Given the description of an element on the screen output the (x, y) to click on. 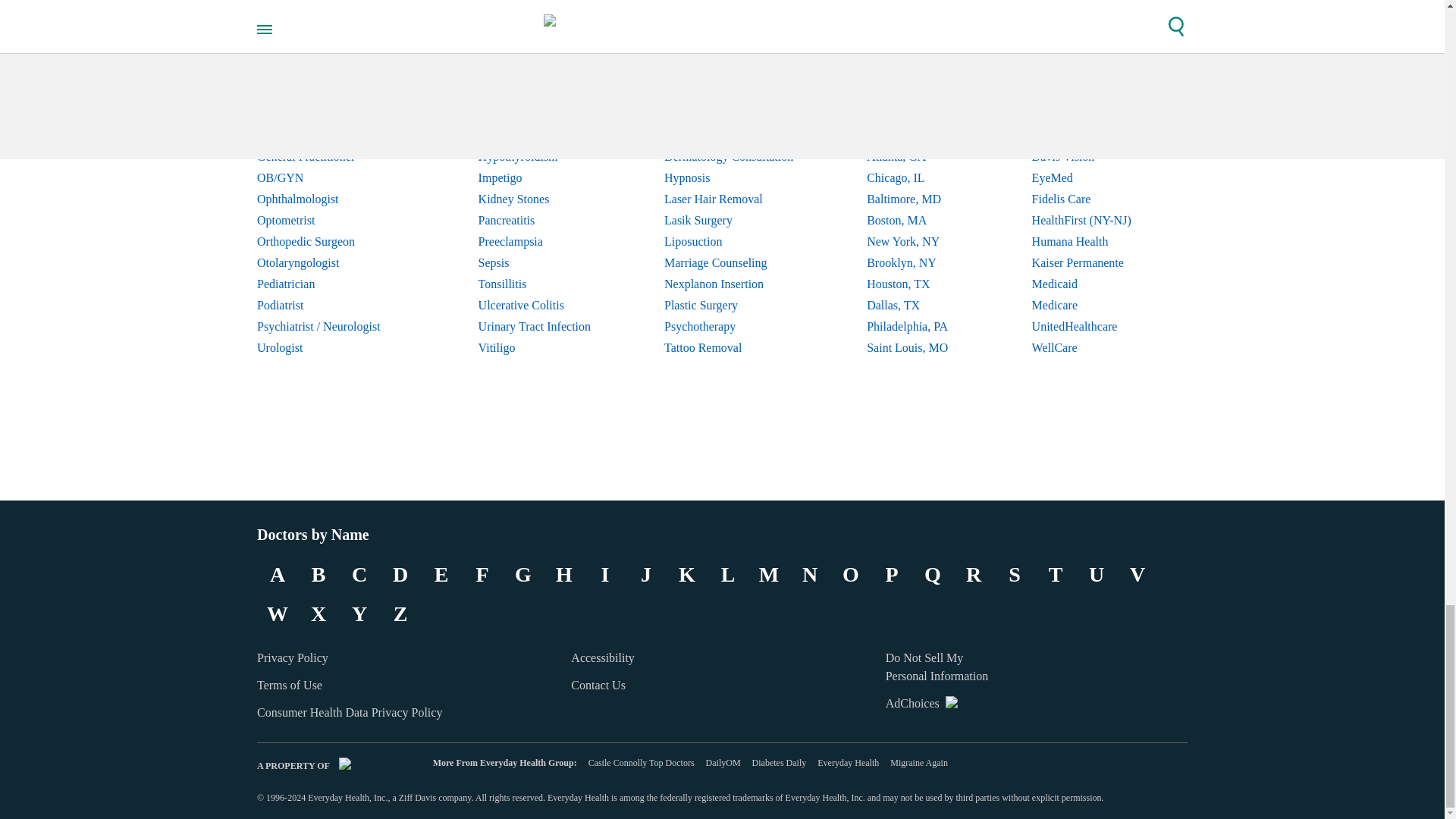
Otolaryngologist (330, 262)
Orthopedic Surgeon (330, 241)
Dermatologist (330, 93)
Gastroenterologist (330, 135)
Ophthalmologist (330, 199)
Podiatrist (330, 305)
Endocrinologist (330, 114)
Cardiologist (330, 71)
Addiction Medicine Specialist (330, 50)
General Practitioner (330, 156)
Optometrist (330, 219)
Pediatrician (330, 283)
